Given the description of an element on the screen output the (x, y) to click on. 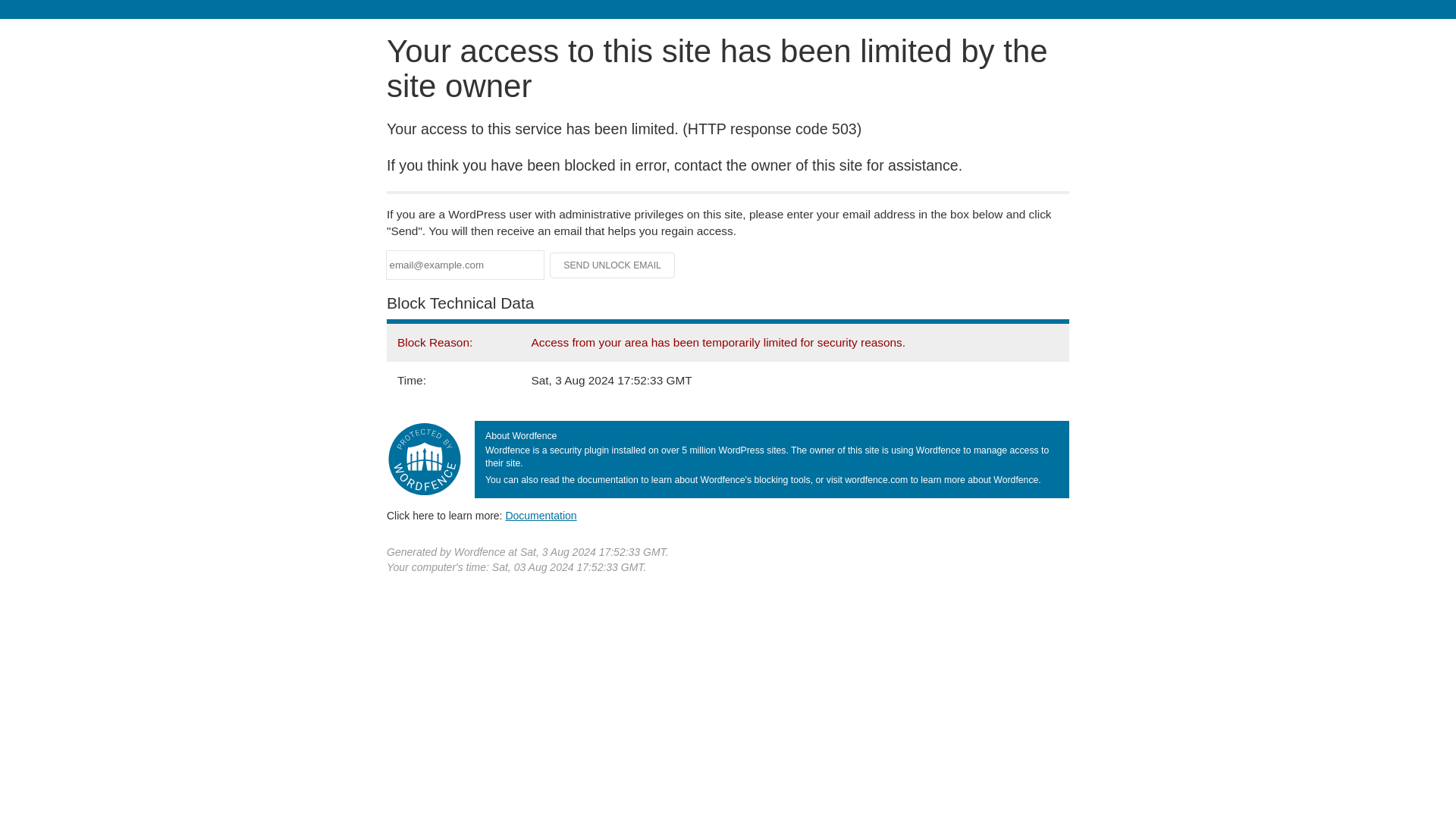
Send Unlock Email (612, 265)
Documentation (540, 515)
Send Unlock Email (612, 265)
